Given the description of an element on the screen output the (x, y) to click on. 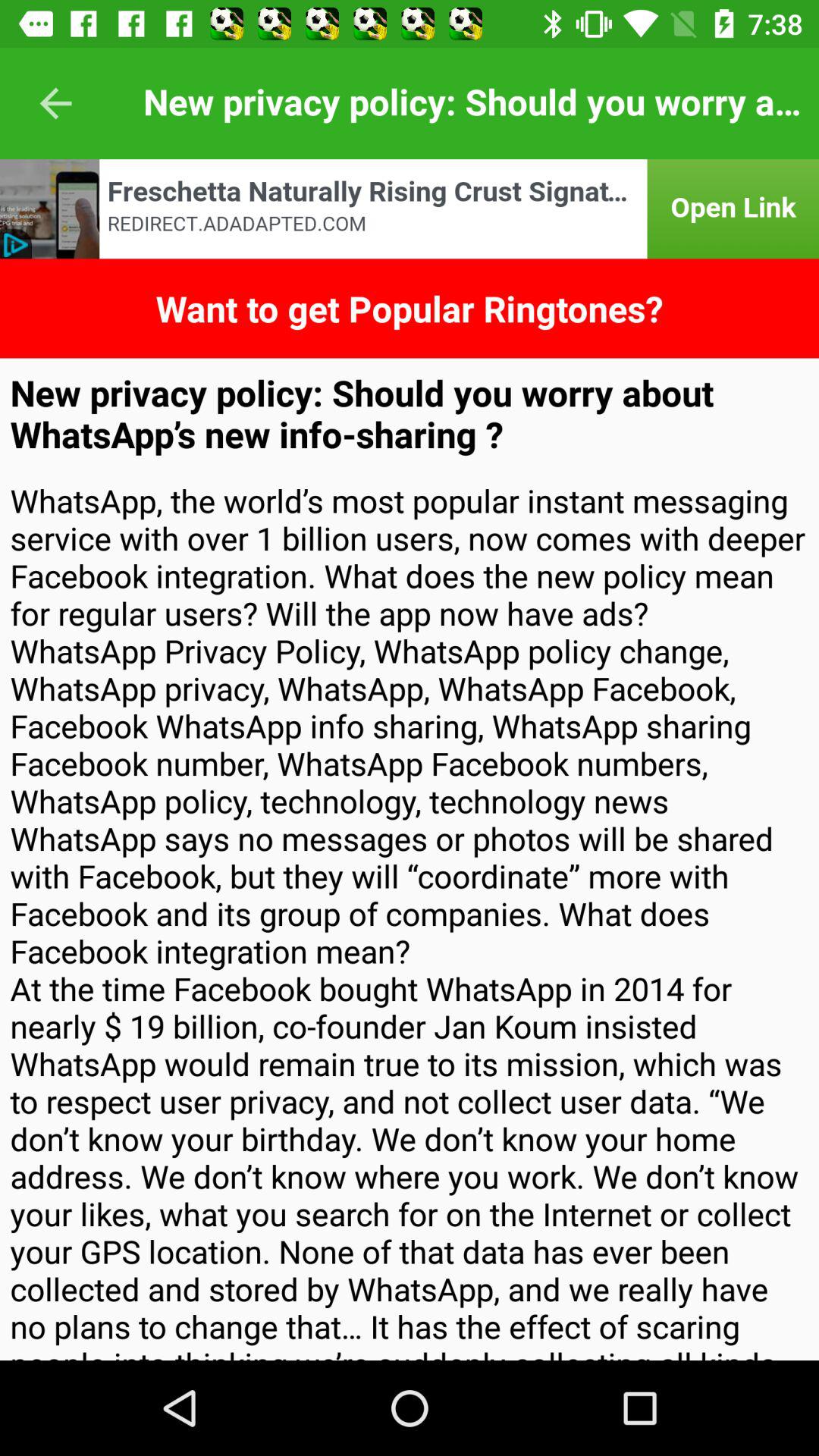
search bar (409, 208)
